Given the description of an element on the screen output the (x, y) to click on. 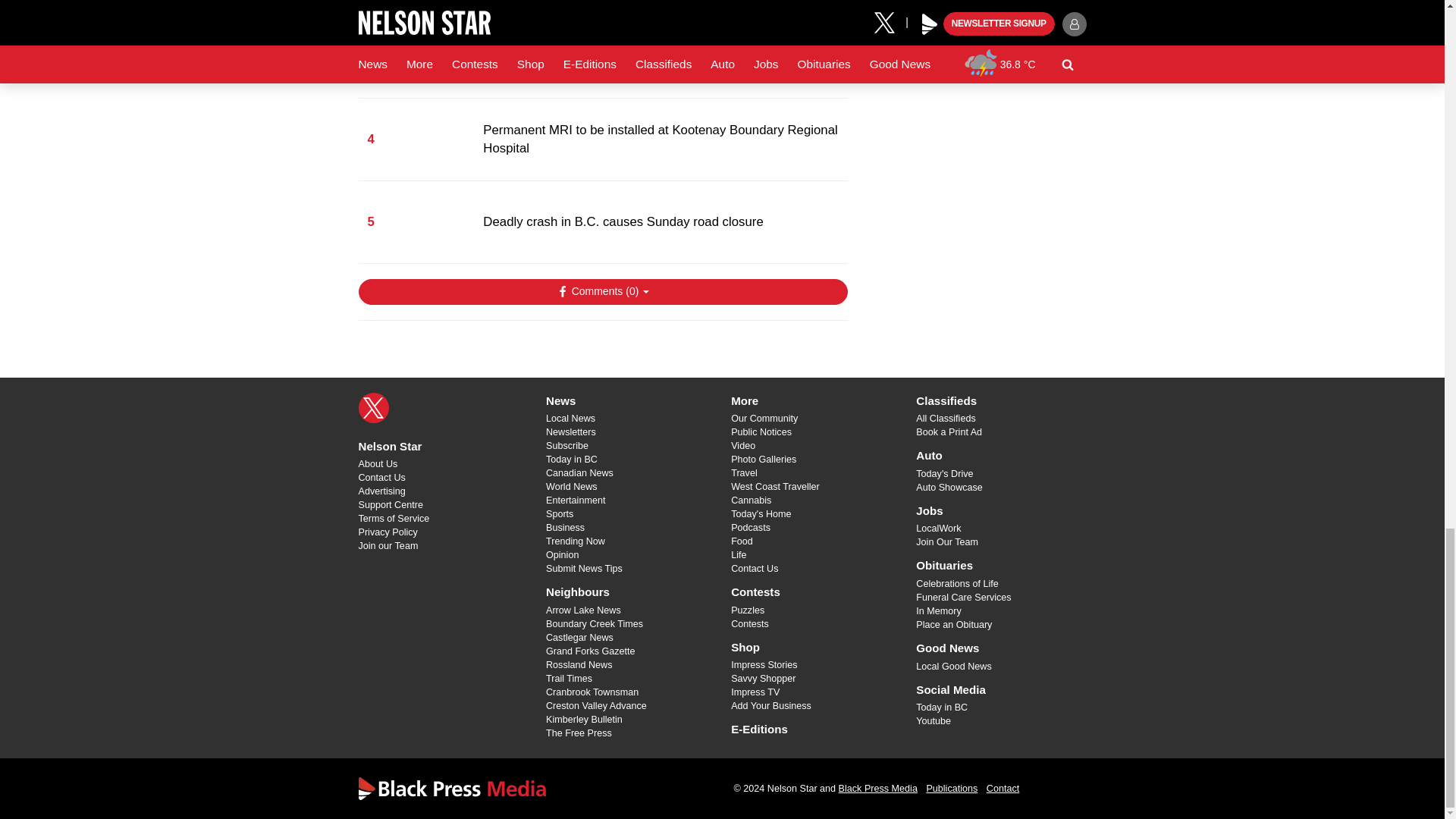
X (373, 408)
Show Comments (602, 291)
